Given the description of an element on the screen output the (x, y) to click on. 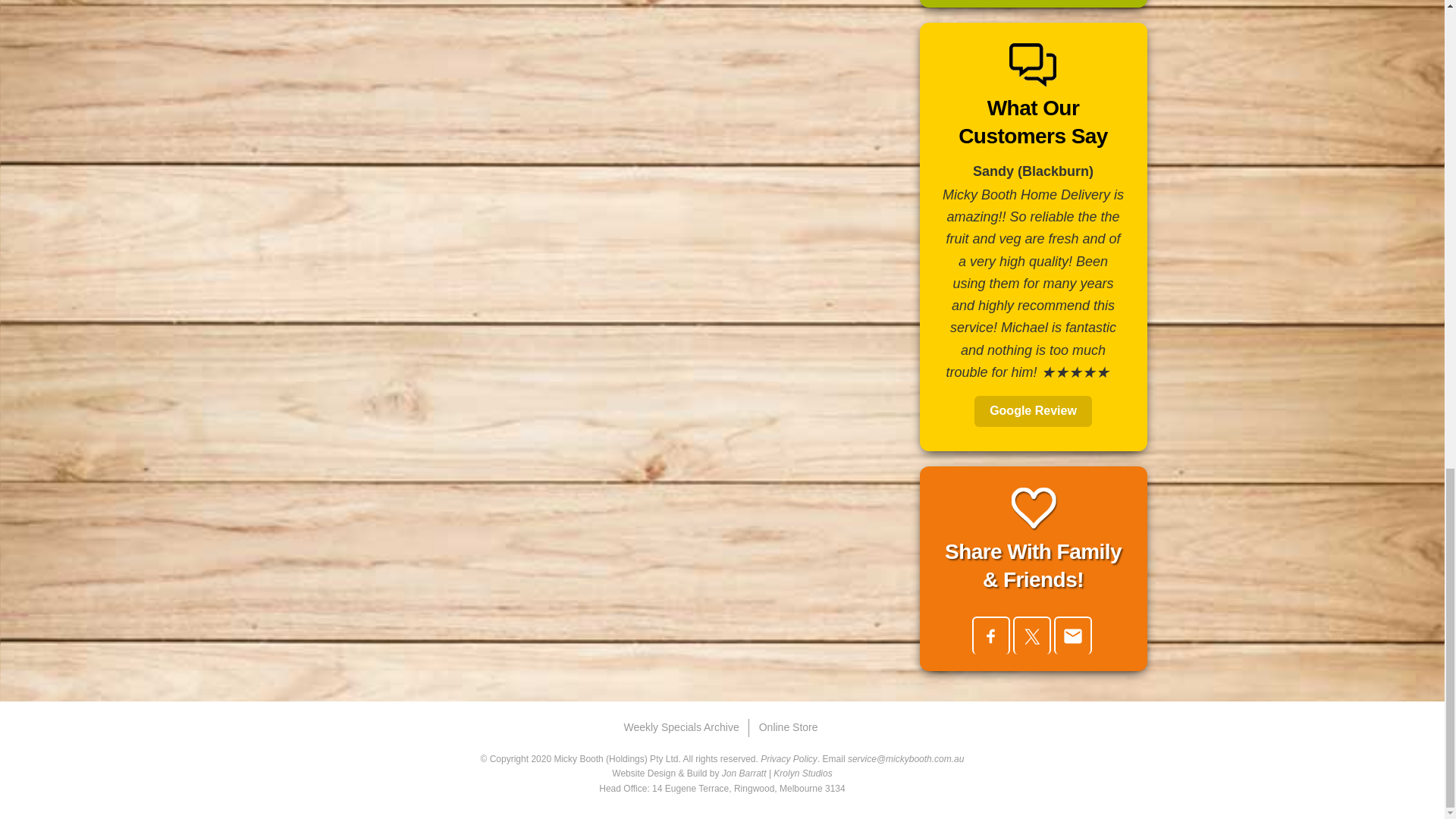
Google Review (1033, 410)
Email Micky Booth (905, 758)
